Given the description of an element on the screen output the (x, y) to click on. 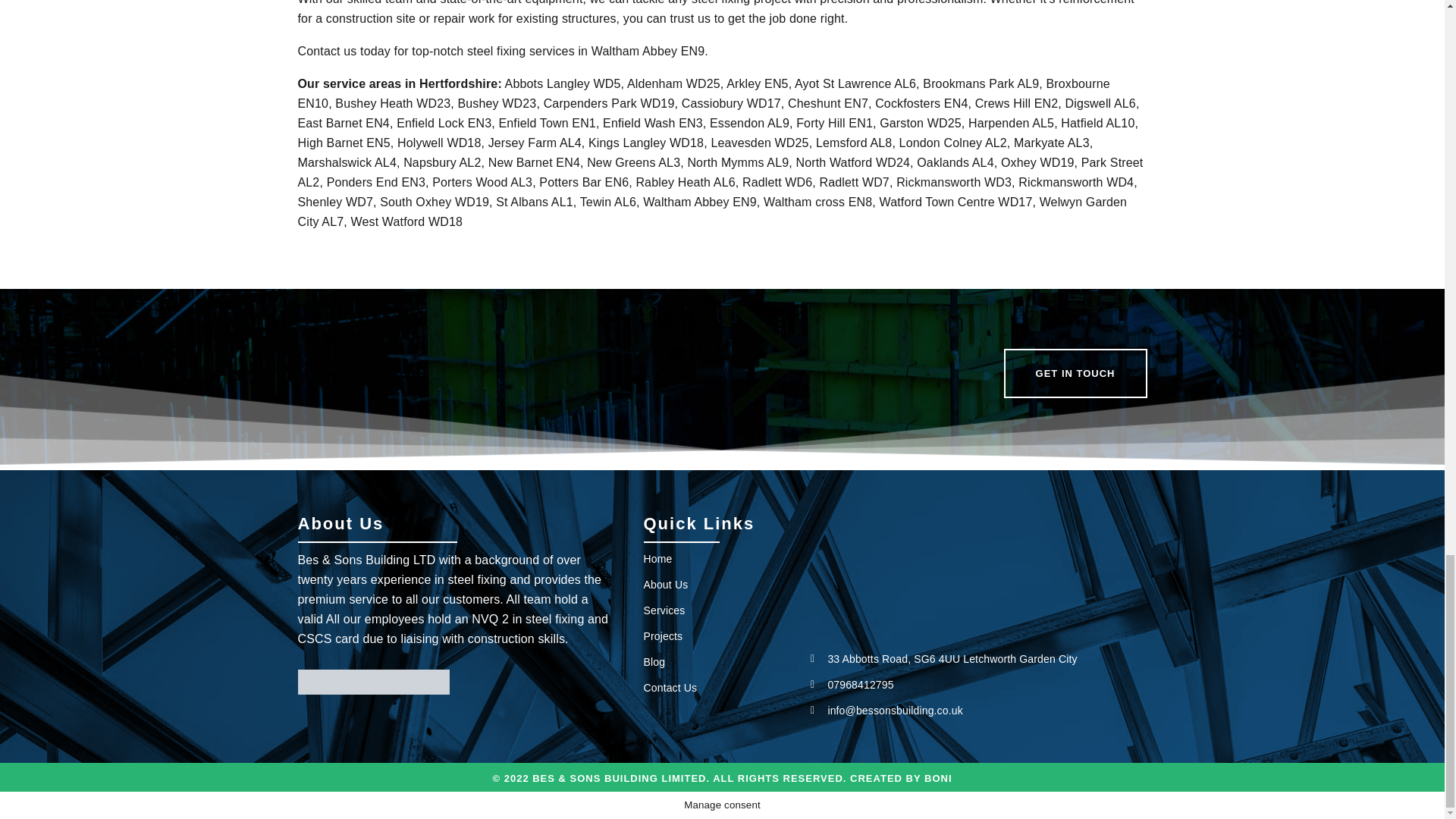
Cockfosters EN4 (921, 103)
Bushey Heath WD23 (391, 103)
Hatfield AL10 (1097, 123)
Digswell AL6 (1100, 103)
Bushey WD23 (497, 103)
Essendon AL9 (749, 123)
Ayot St Lawrence AL6 (854, 83)
East Barnet EN4 (342, 123)
Enfield Wash EN3 (652, 123)
Cheshunt EN7 (827, 103)
Brookmans Park AL9 (981, 83)
Broxbourne EN10 (703, 92)
Cassiobury WD17 (730, 103)
Abbots Langley WD5 (563, 83)
Aldenham WD25 (673, 83)
